Given the description of an element on the screen output the (x, y) to click on. 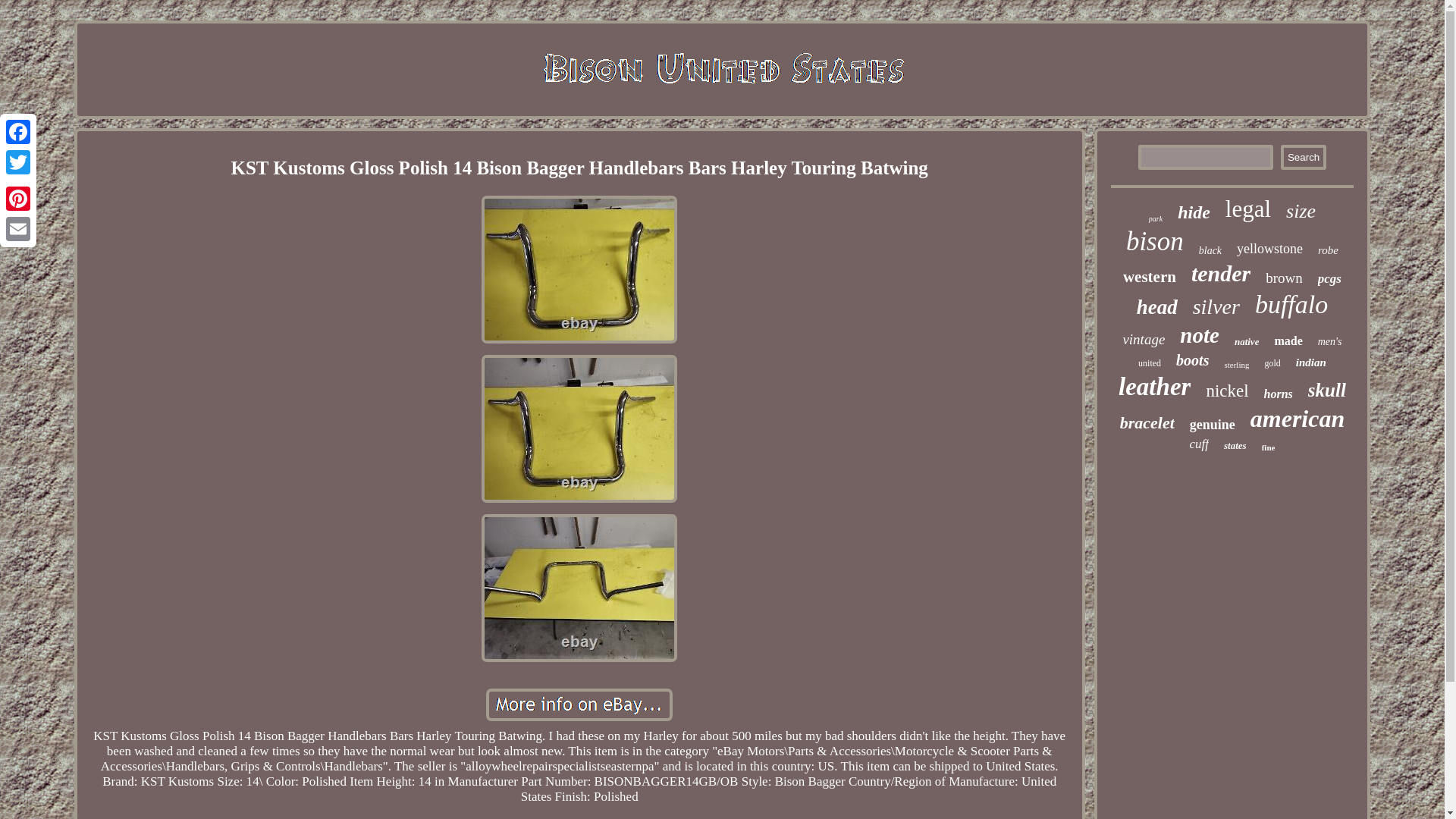
size (1300, 210)
Email (17, 228)
men's (1329, 341)
made (1287, 341)
western (1149, 276)
silver (1216, 306)
robe (1327, 250)
Facebook (17, 132)
legal (1248, 208)
vintage (1143, 339)
note (1199, 335)
